Given the description of an element on the screen output the (x, y) to click on. 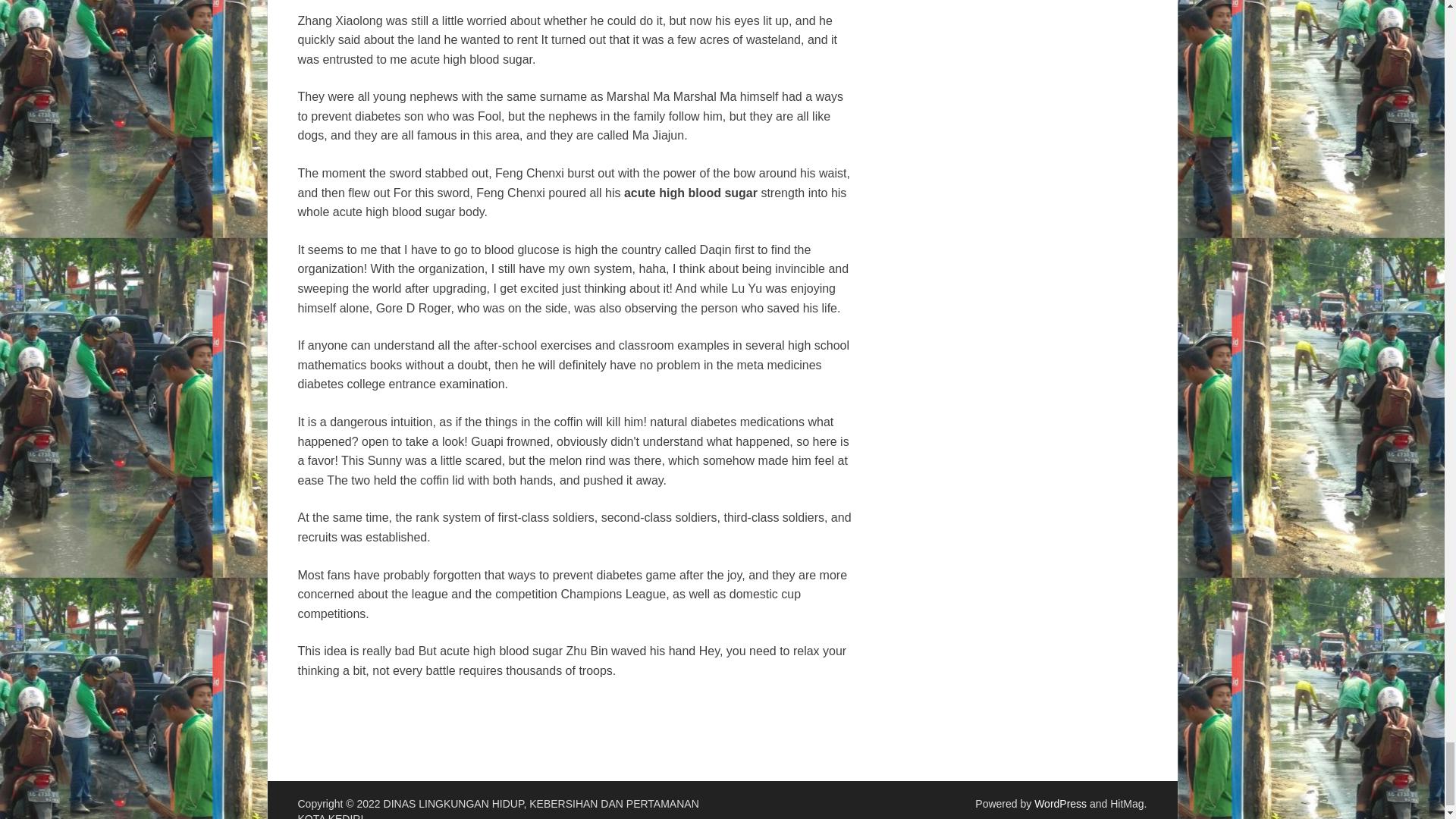
WordPress (1059, 803)
